Given the description of an element on the screen output the (x, y) to click on. 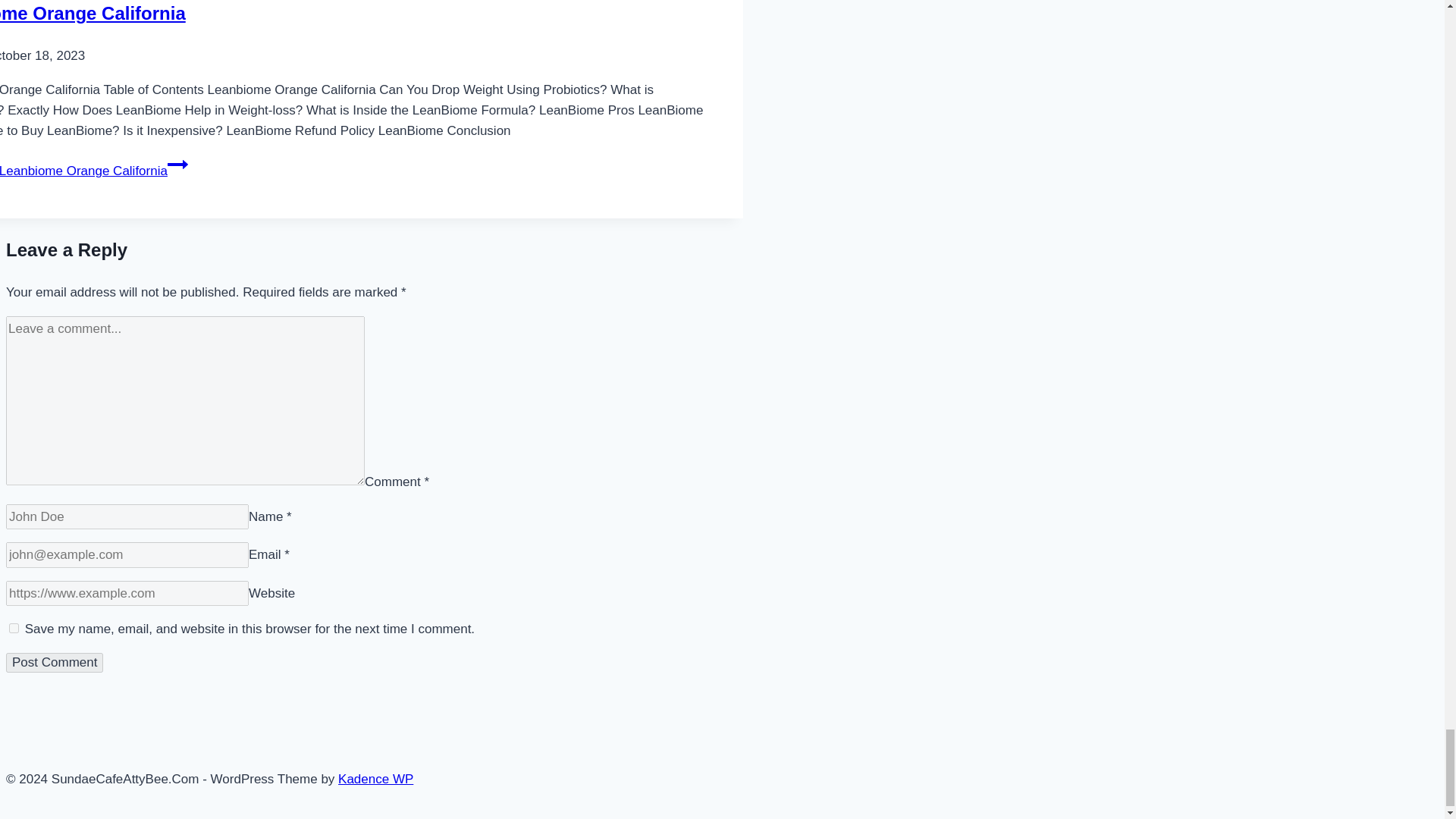
Post Comment (54, 662)
Continue (177, 164)
yes (13, 628)
